Given the description of an element on the screen output the (x, y) to click on. 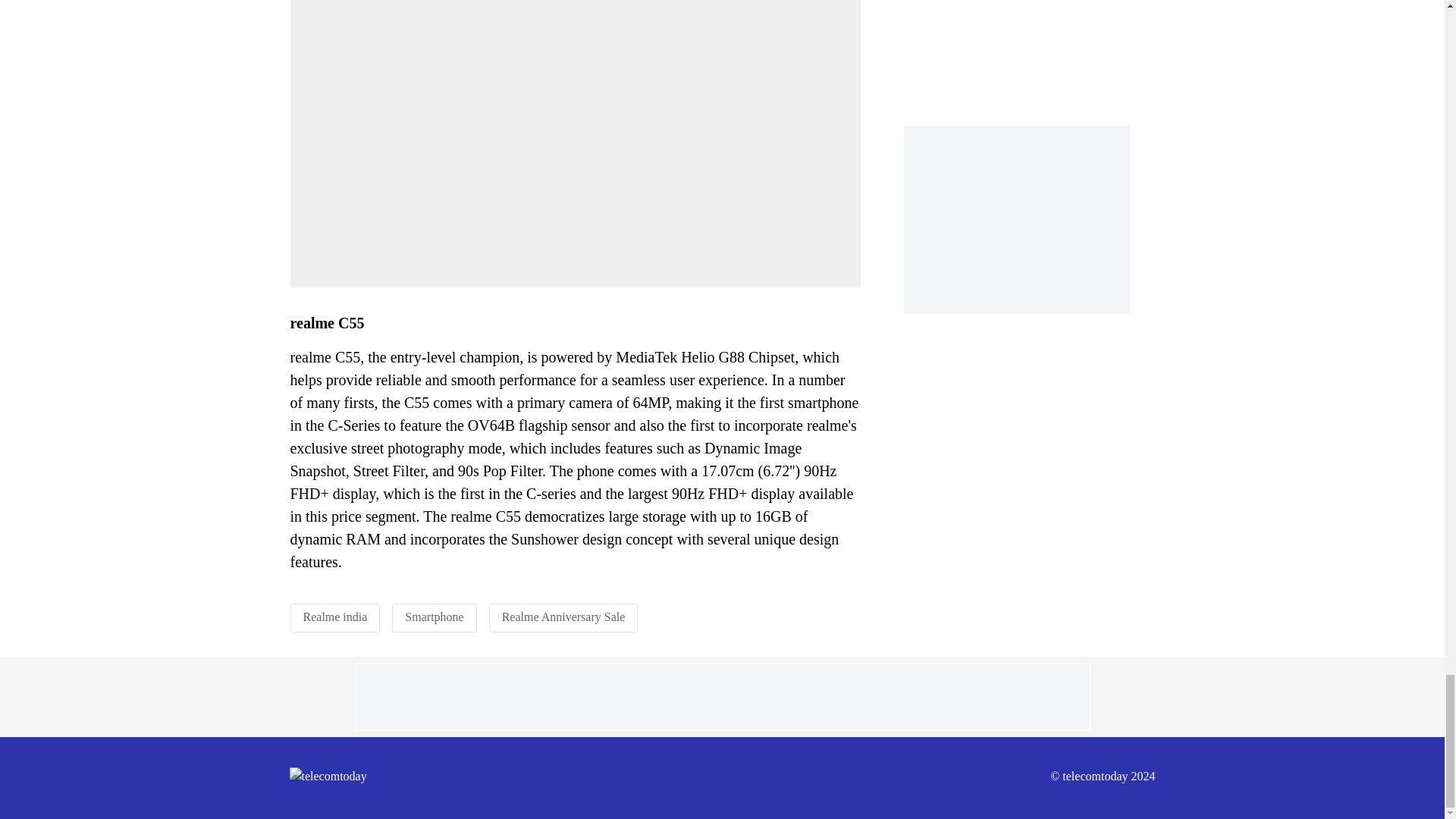
Realme india (335, 616)
Smartphone (433, 616)
Realme Anniversary Sale (564, 616)
